Given the description of an element on the screen output the (x, y) to click on. 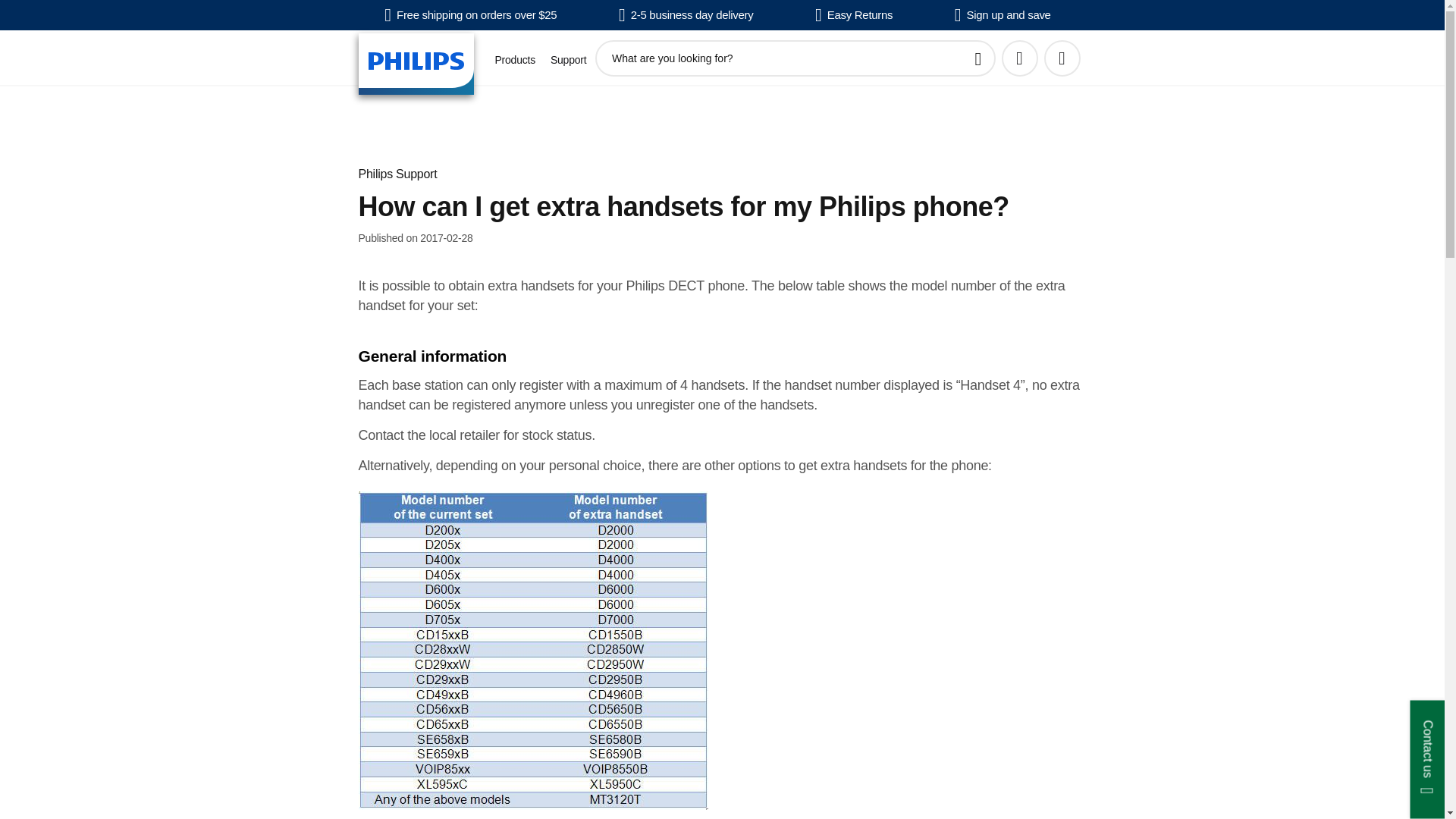
Easy Returns (853, 15)
Home (415, 64)
Products (513, 59)
Sign up and save (1003, 15)
